Given the description of an element on the screen output the (x, y) to click on. 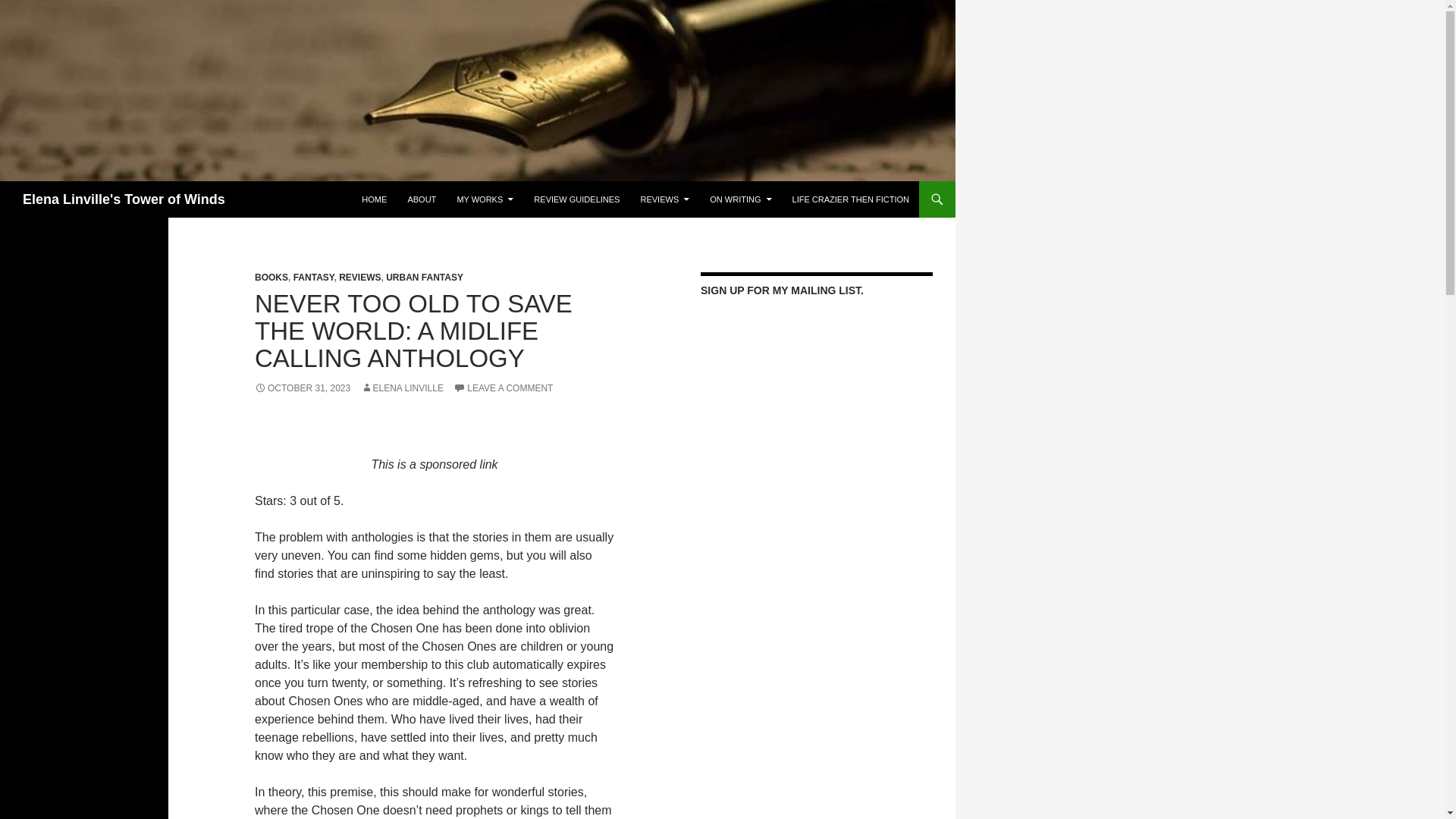
LIFE CRAZIER THEN FICTION (850, 198)
REVIEW GUIDELINES (576, 198)
ELENA LINVILLE (402, 388)
REVIEWS (664, 198)
OCTOBER 31, 2023 (302, 388)
URBAN FANTASY (424, 276)
ABOUT (421, 198)
FANTASY (314, 276)
